Given the description of an element on the screen output the (x, y) to click on. 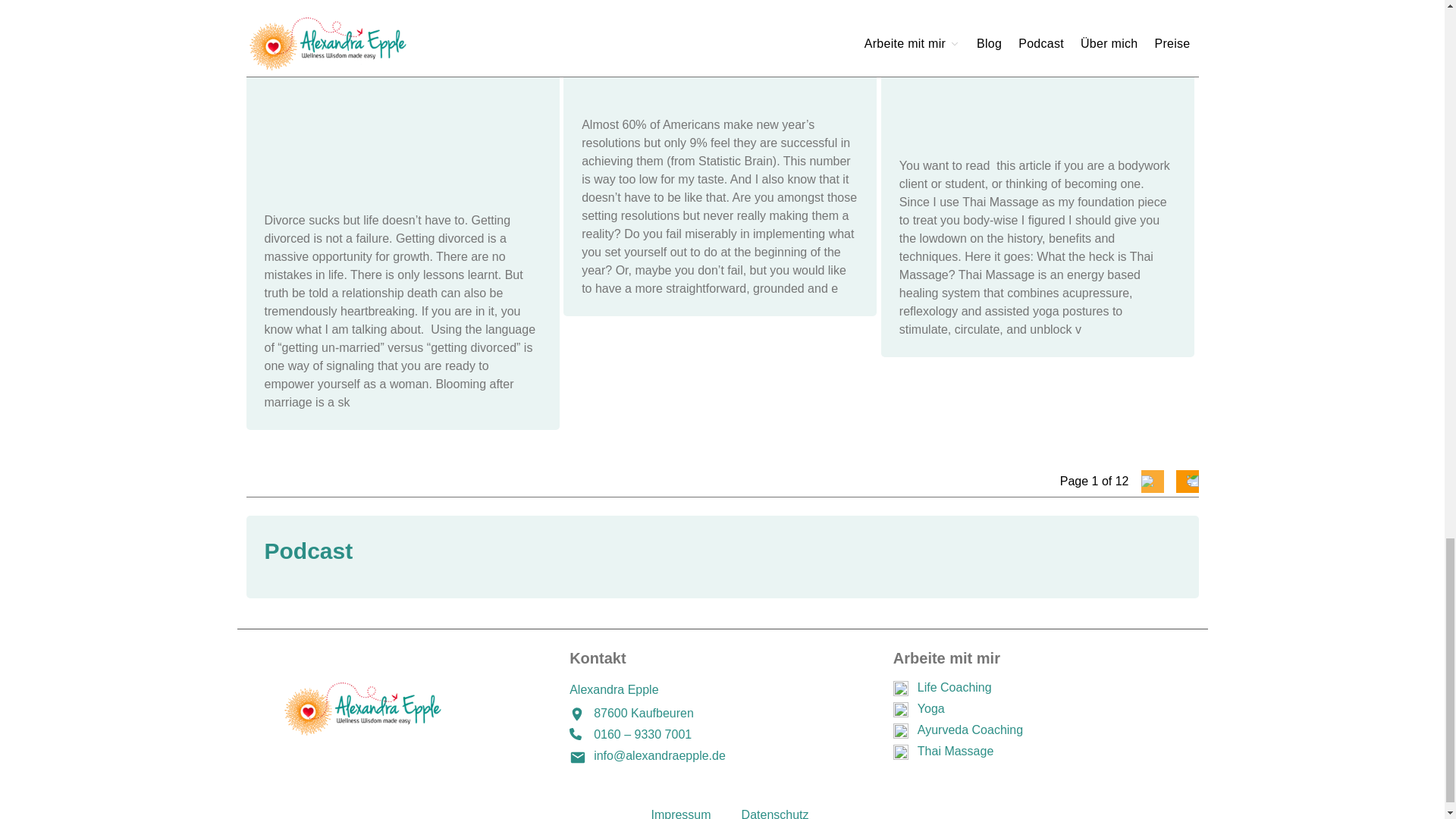
Ayurveda Coaching, Yoga Health Coaching, Thai Massage (394, 708)
